Given the description of an element on the screen output the (x, y) to click on. 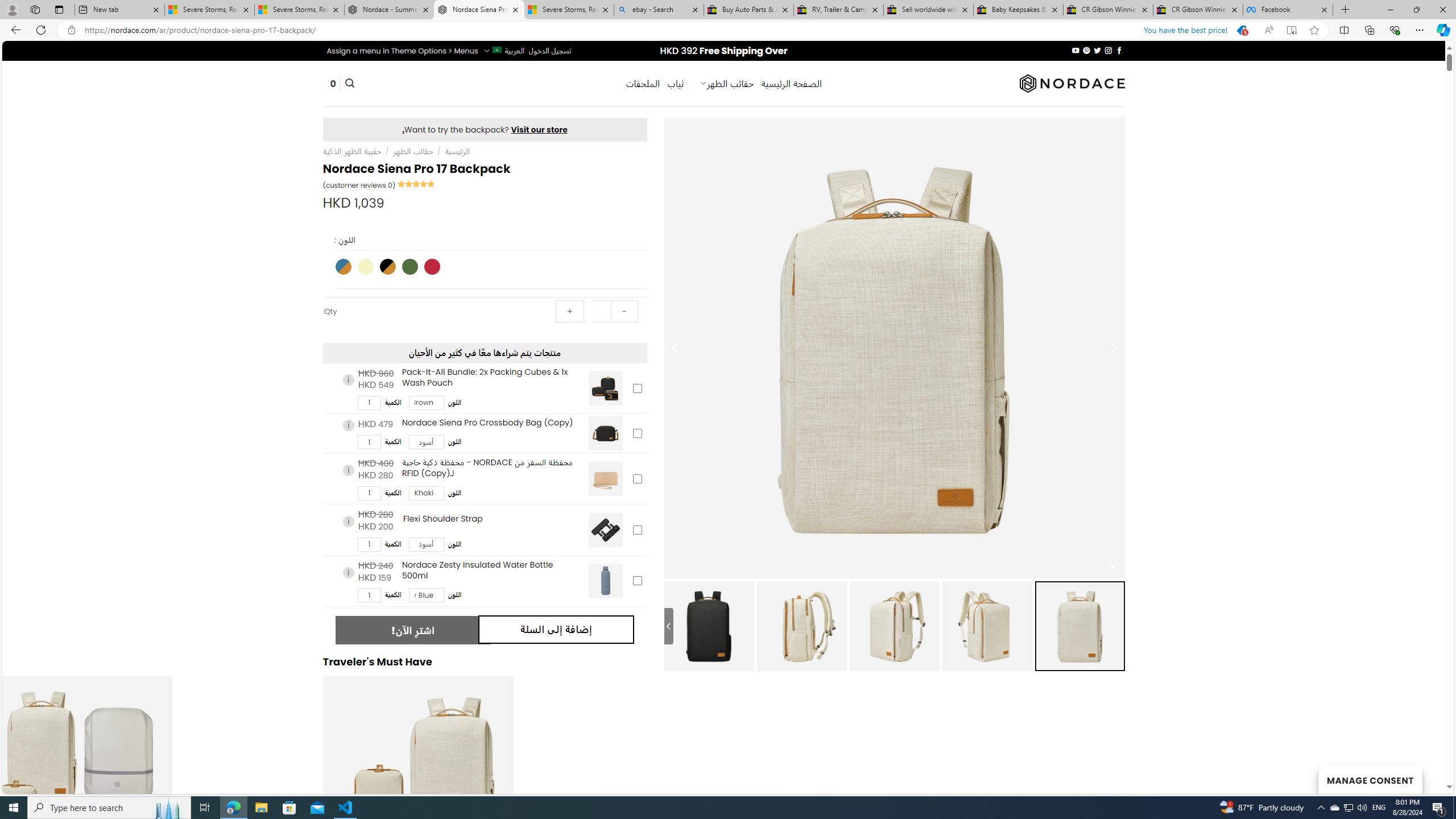
Assign a menu in Theme Options > Menus (402, 50)
Enter Immersive Reader (F9) (1291, 29)
Nordace Siena Pro 17 Backpack (478, 9)
i (347, 572)
Class: upsell-v2-product-upsell-variable-product-qty-select (368, 595)
